Given the description of an element on the screen output the (x, y) to click on. 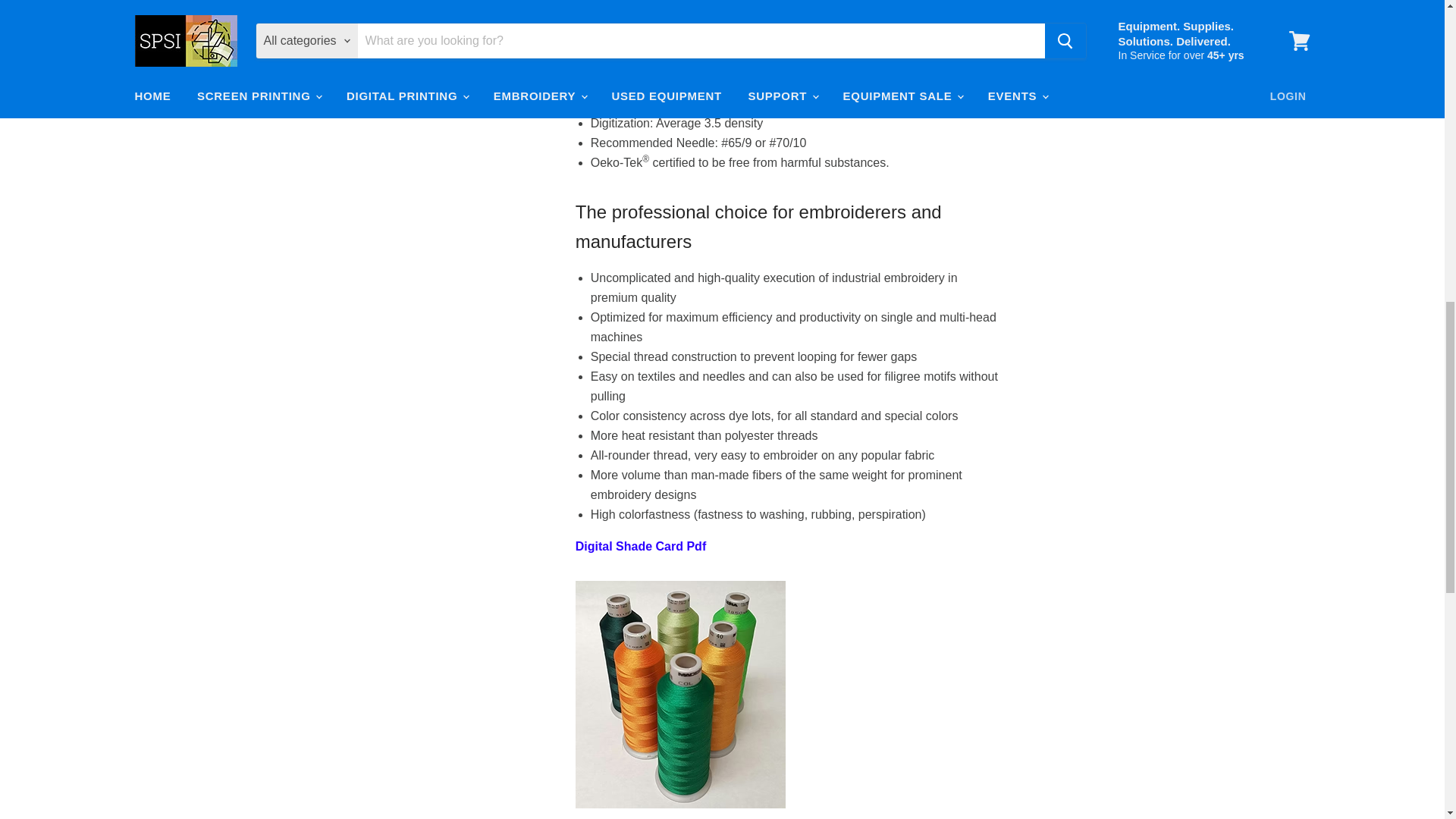
Digital Shade Card Madeira Classic Rayon Pdf (640, 545)
